Given the description of an element on the screen output the (x, y) to click on. 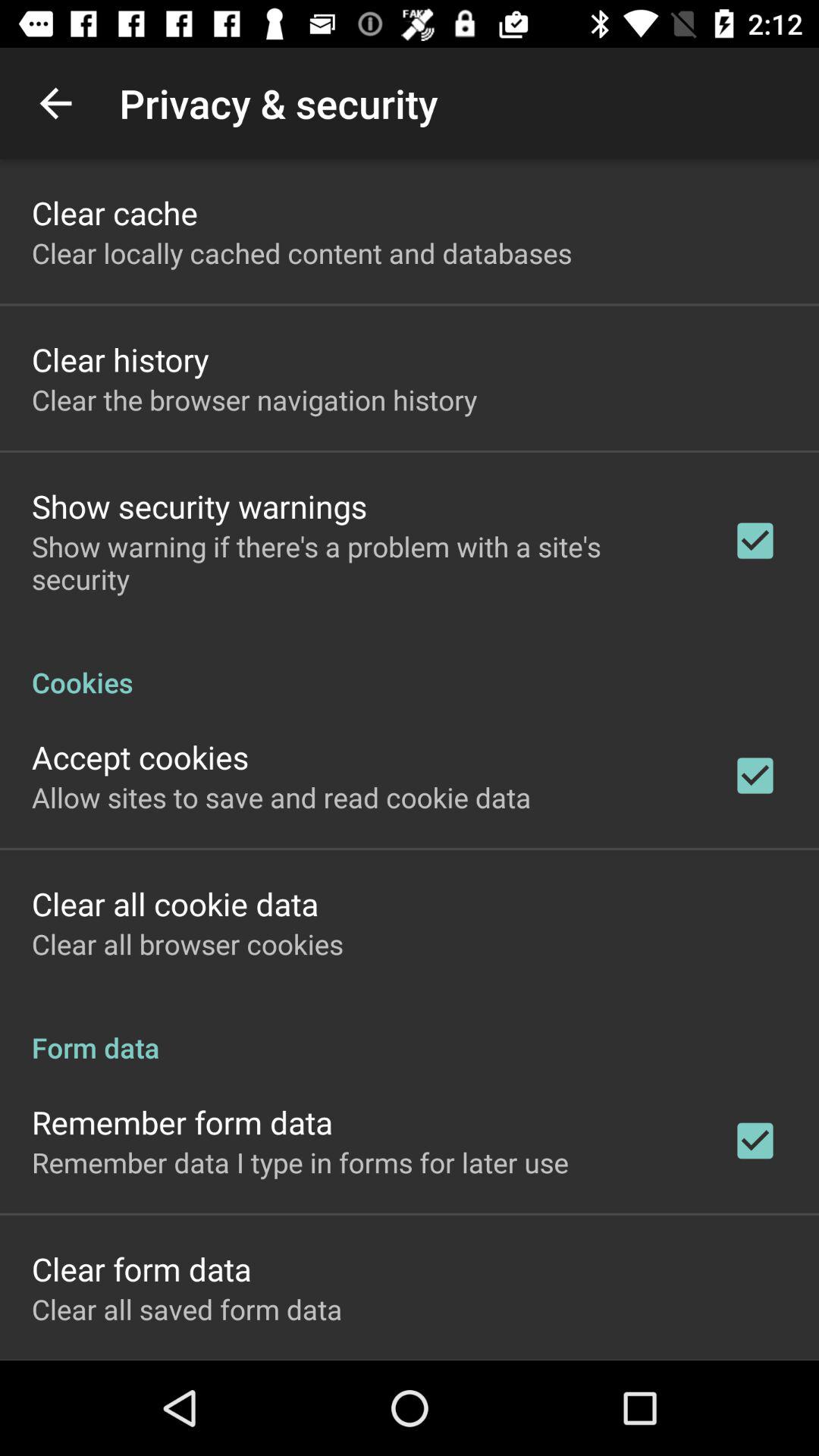
click the icon below clear cache item (301, 252)
